Given the description of an element on the screen output the (x, y) to click on. 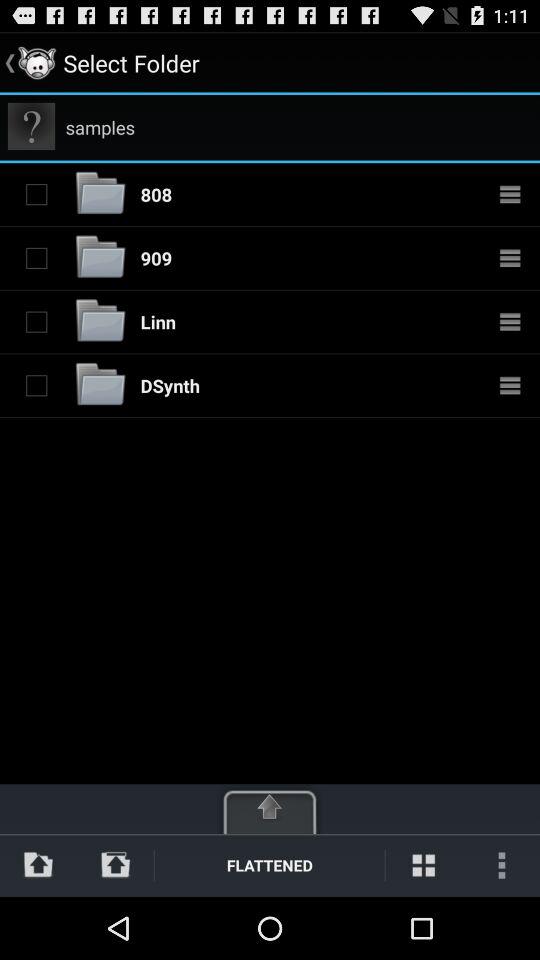
selects folder adjacent to button (36, 258)
